Given the description of an element on the screen output the (x, y) to click on. 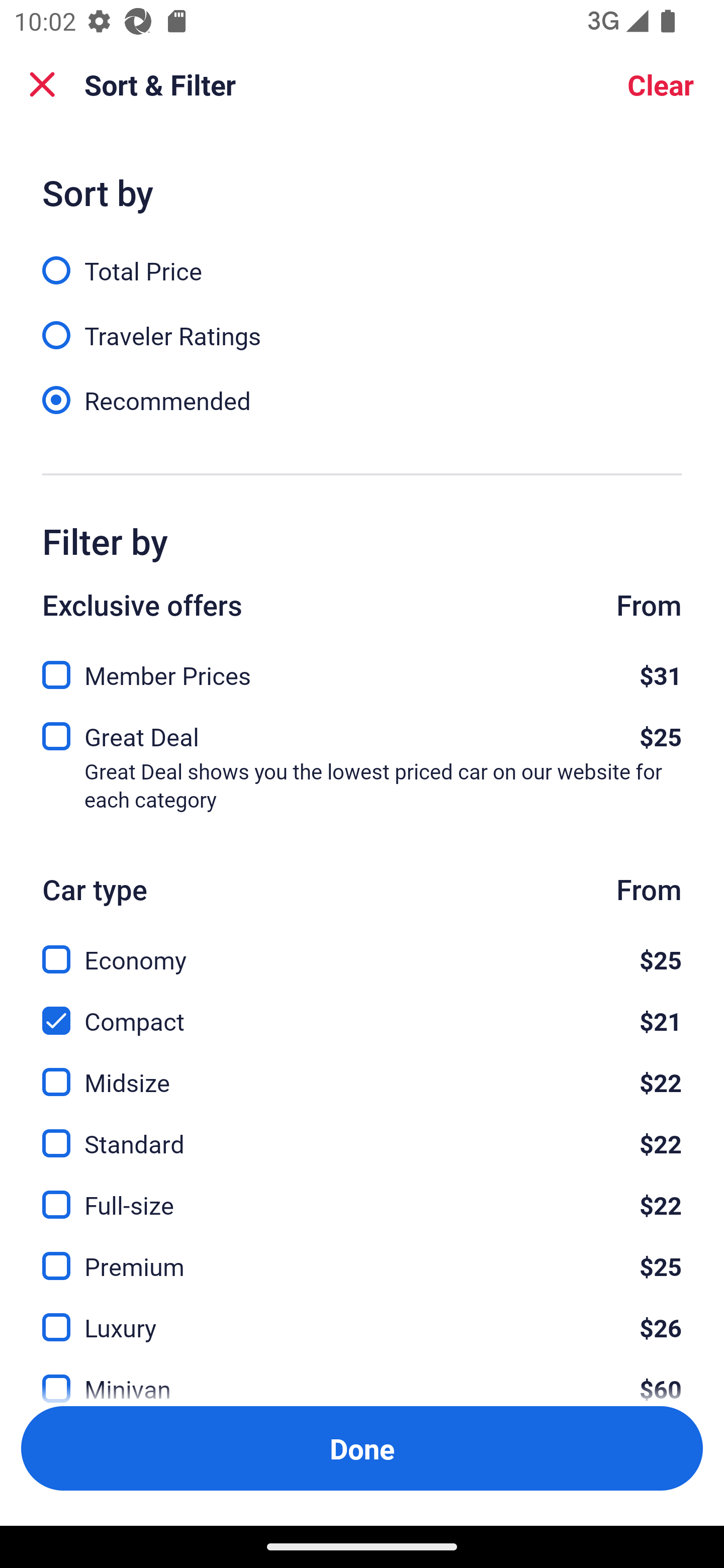
Close Sort and Filter (42, 84)
Clear (660, 84)
Total Price (361, 259)
Traveler Ratings (361, 324)
Member Prices, $31 Member Prices $31 (361, 669)
Economy, $25 Economy $25 (361, 947)
Compact, $21 Compact $21 (361, 1008)
Midsize, $22 Midsize $22 (361, 1070)
Standard, $22 Standard $22 (361, 1132)
Full-size, $22 Full-size $22 (361, 1193)
Premium, $25 Premium $25 (361, 1254)
Luxury, $26 Luxury $26 (361, 1315)
Minivan, $60 Minivan $60 (361, 1376)
Apply and close Sort and Filter Done (361, 1448)
